Given the description of an element on the screen output the (x, y) to click on. 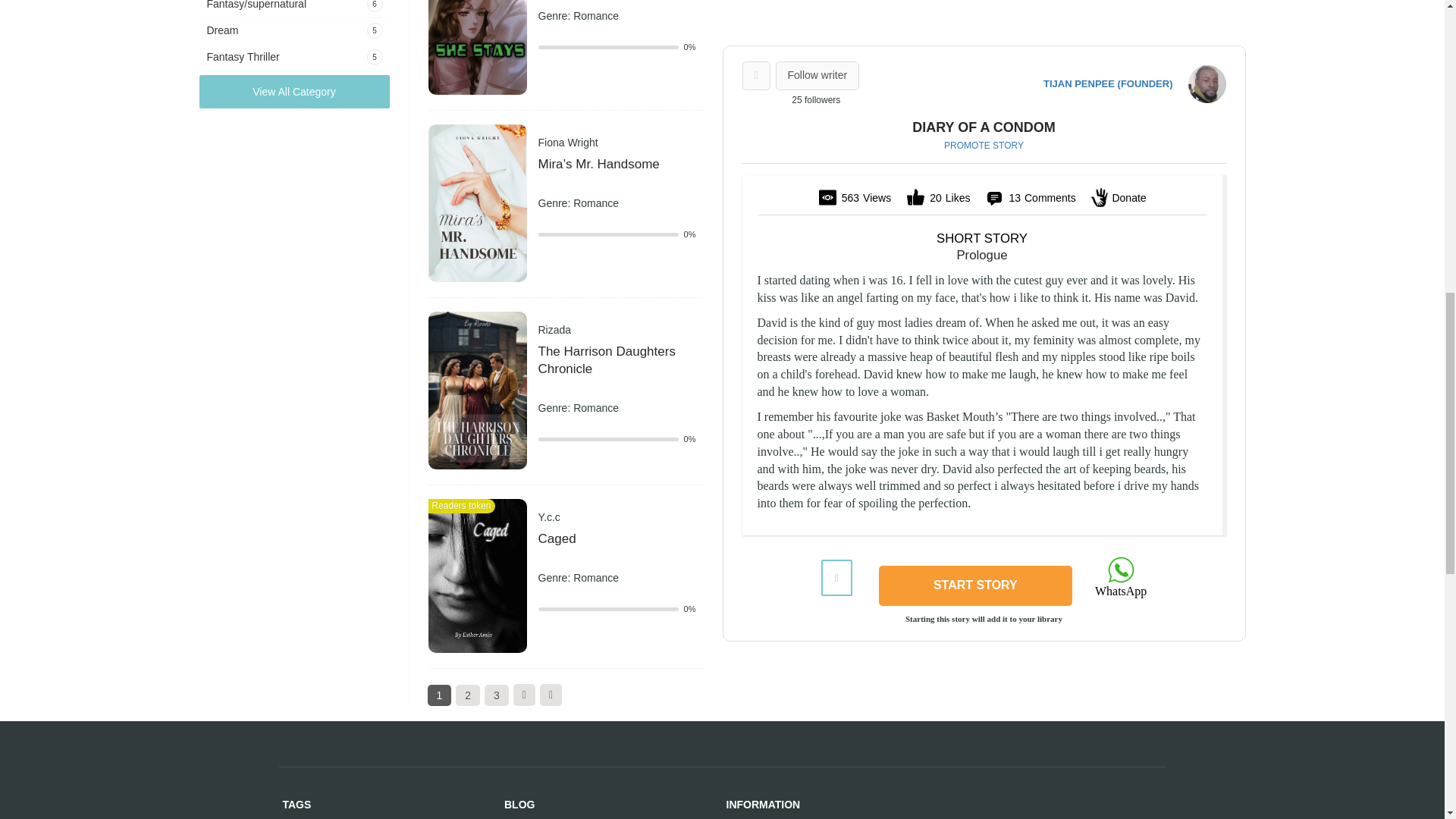
SHE STAYS (476, 15)
The Harrison Daughters Chronicle (476, 389)
Caged (476, 575)
